Given the description of an element on the screen output the (x, y) to click on. 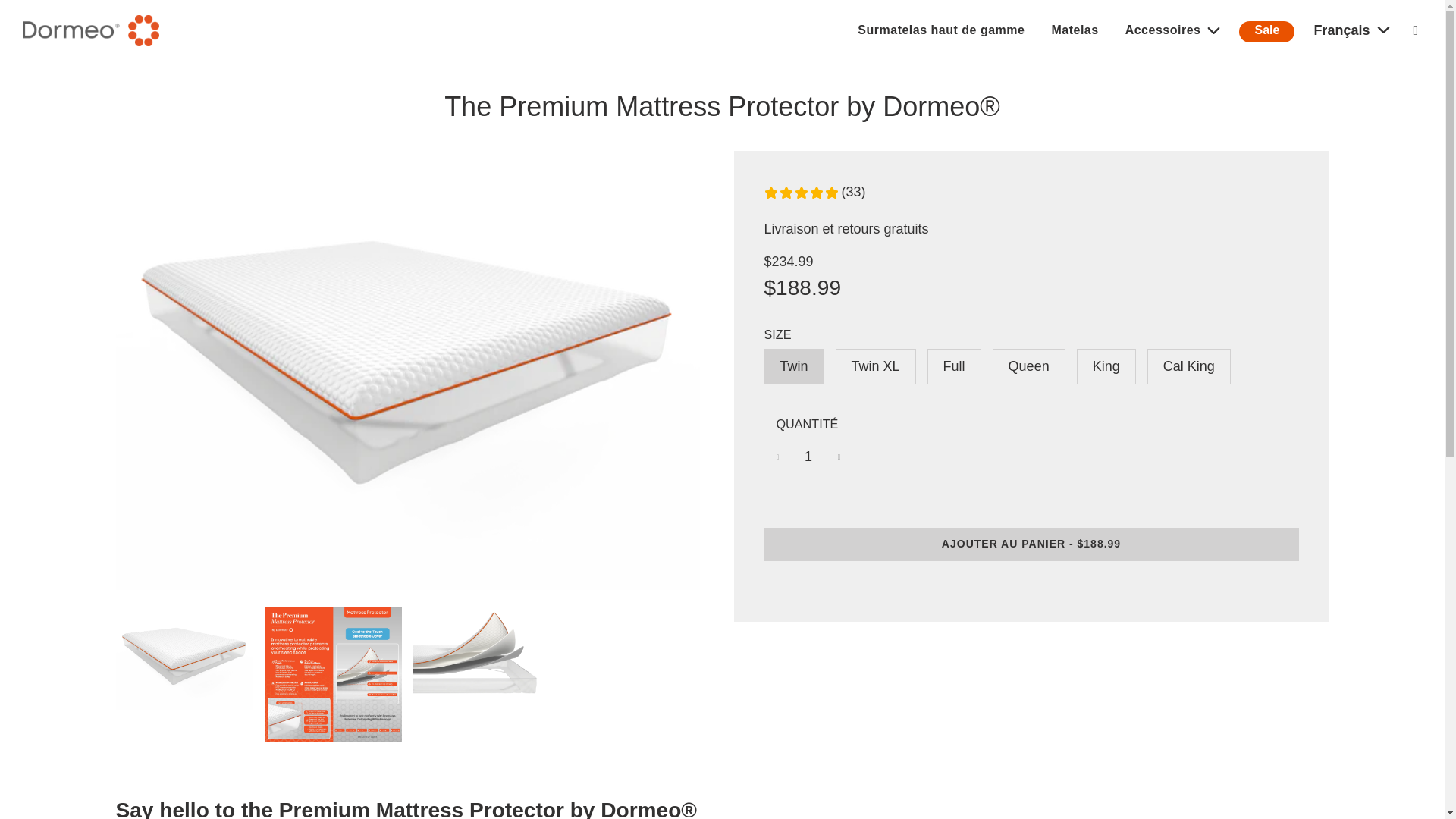
Sale (1266, 31)
Accessoires (1174, 30)
Matelas (1074, 30)
1 (808, 456)
Surmatelas haut de gamme (940, 30)
